Given the description of an element on the screen output the (x, y) to click on. 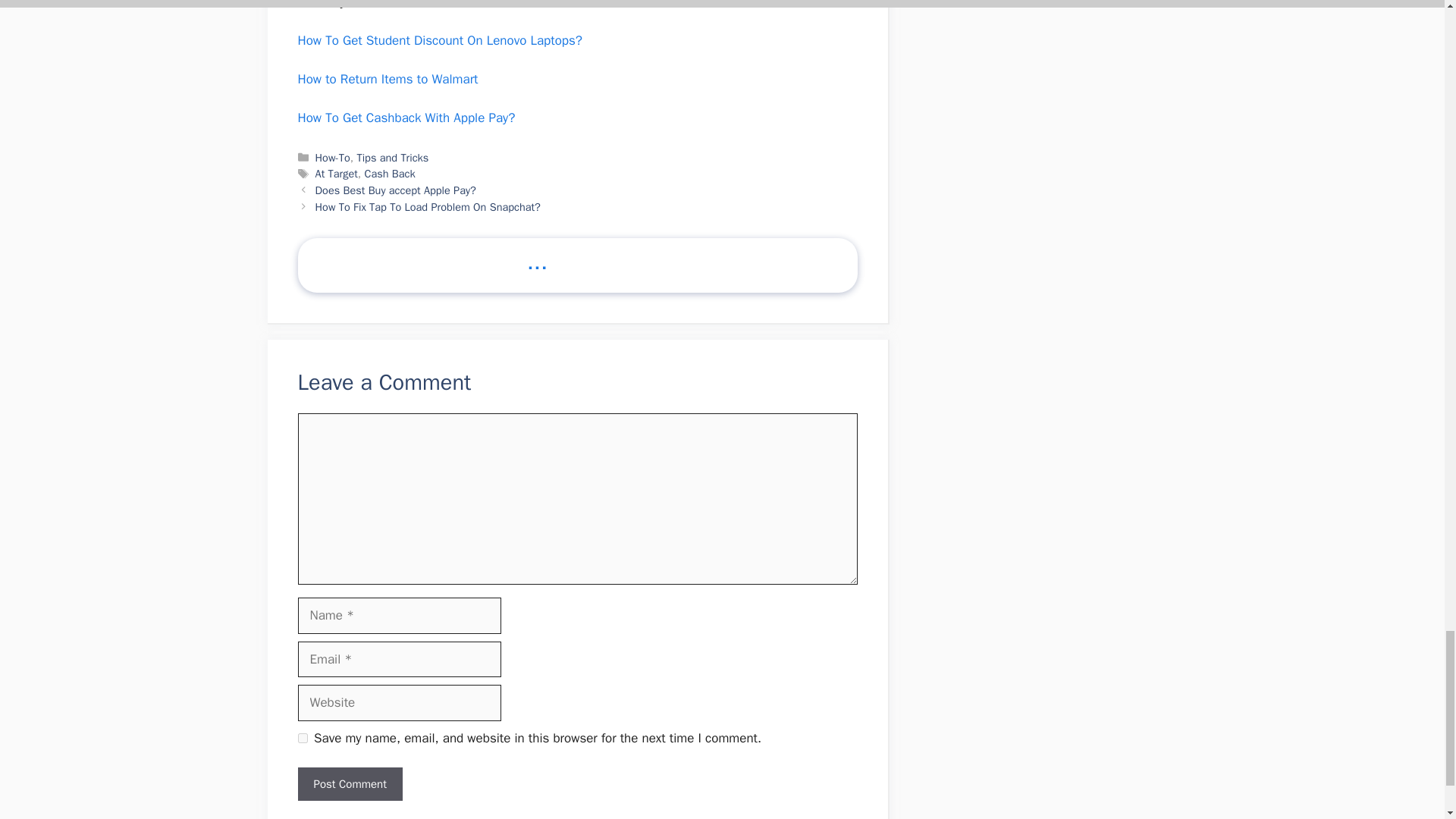
Post Comment (349, 784)
yes (302, 737)
